Given the description of an element on the screen output the (x, y) to click on. 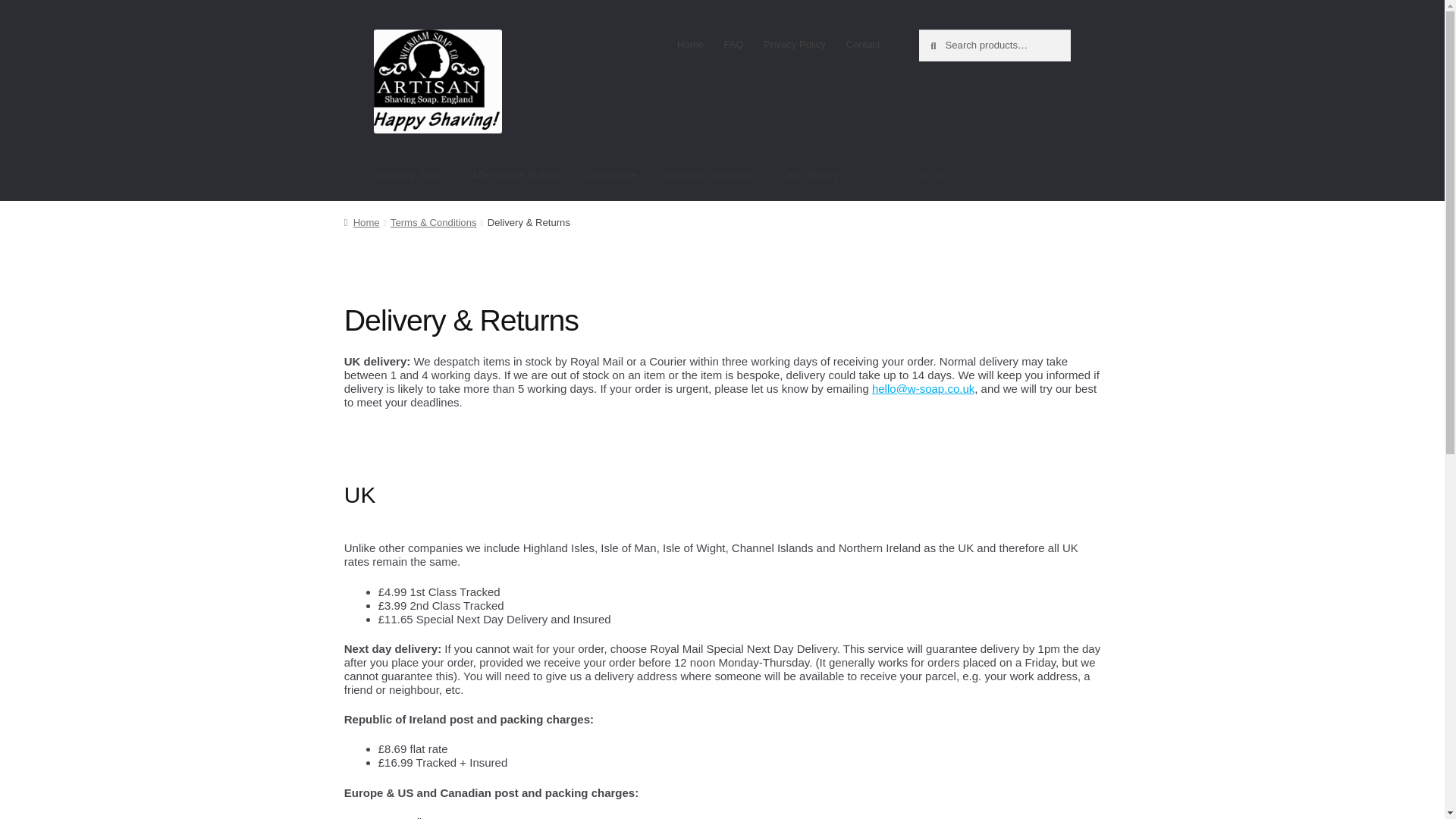
Aftershave Balms (516, 174)
Privacy Policy (794, 43)
Contact (862, 43)
Home (361, 222)
Our History (810, 174)
FAQ (733, 43)
View your shopping cart (994, 174)
Shaving Soap (408, 174)
Home (689, 43)
Stockist Locations (709, 174)
Clearance (610, 174)
